Given the description of an element on the screen output the (x, y) to click on. 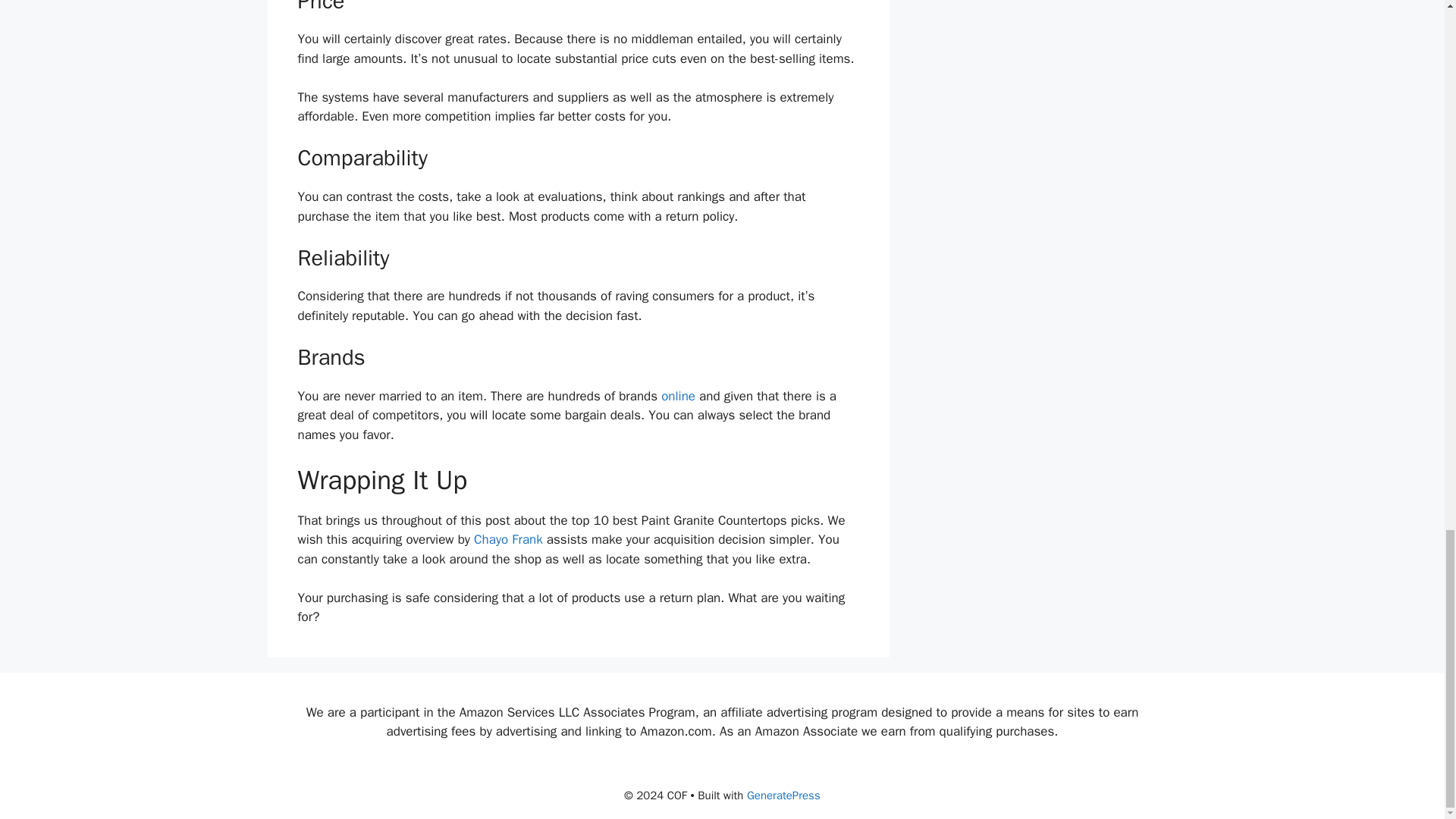
online (678, 396)
GeneratePress (783, 795)
Chayo Frank (508, 539)
